Given the description of an element on the screen output the (x, y) to click on. 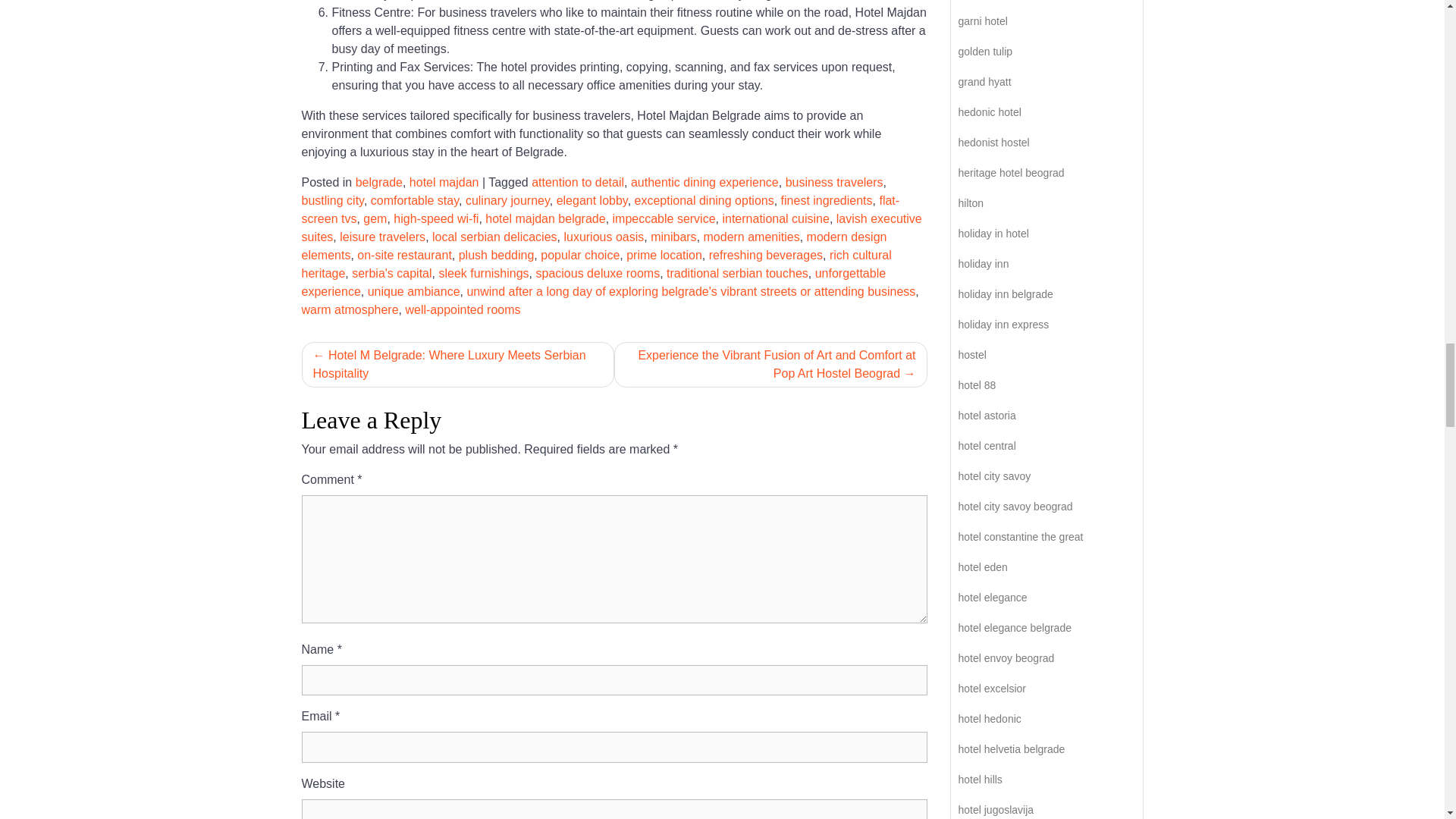
hotel majdan belgrade (544, 218)
exceptional dining options (704, 200)
bustling city (332, 200)
elegant lobby (591, 200)
impeccable service (664, 218)
culinary journey (507, 200)
international cuisine (775, 218)
hotel majdan (444, 182)
minibars (672, 236)
luxurious oasis (603, 236)
